Given the description of an element on the screen output the (x, y) to click on. 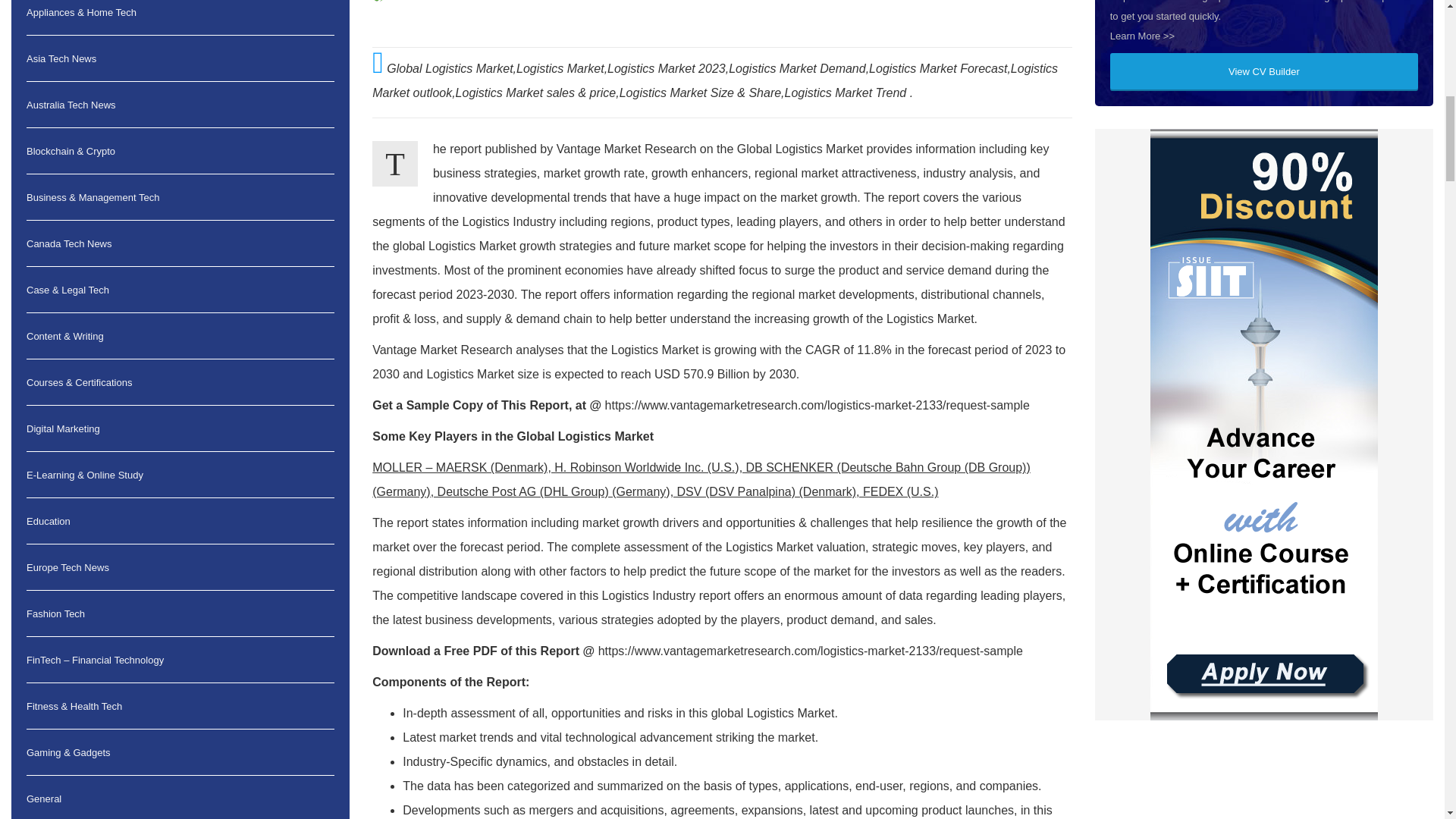
View CV Builder (1263, 71)
